Given the description of an element on the screen output the (x, y) to click on. 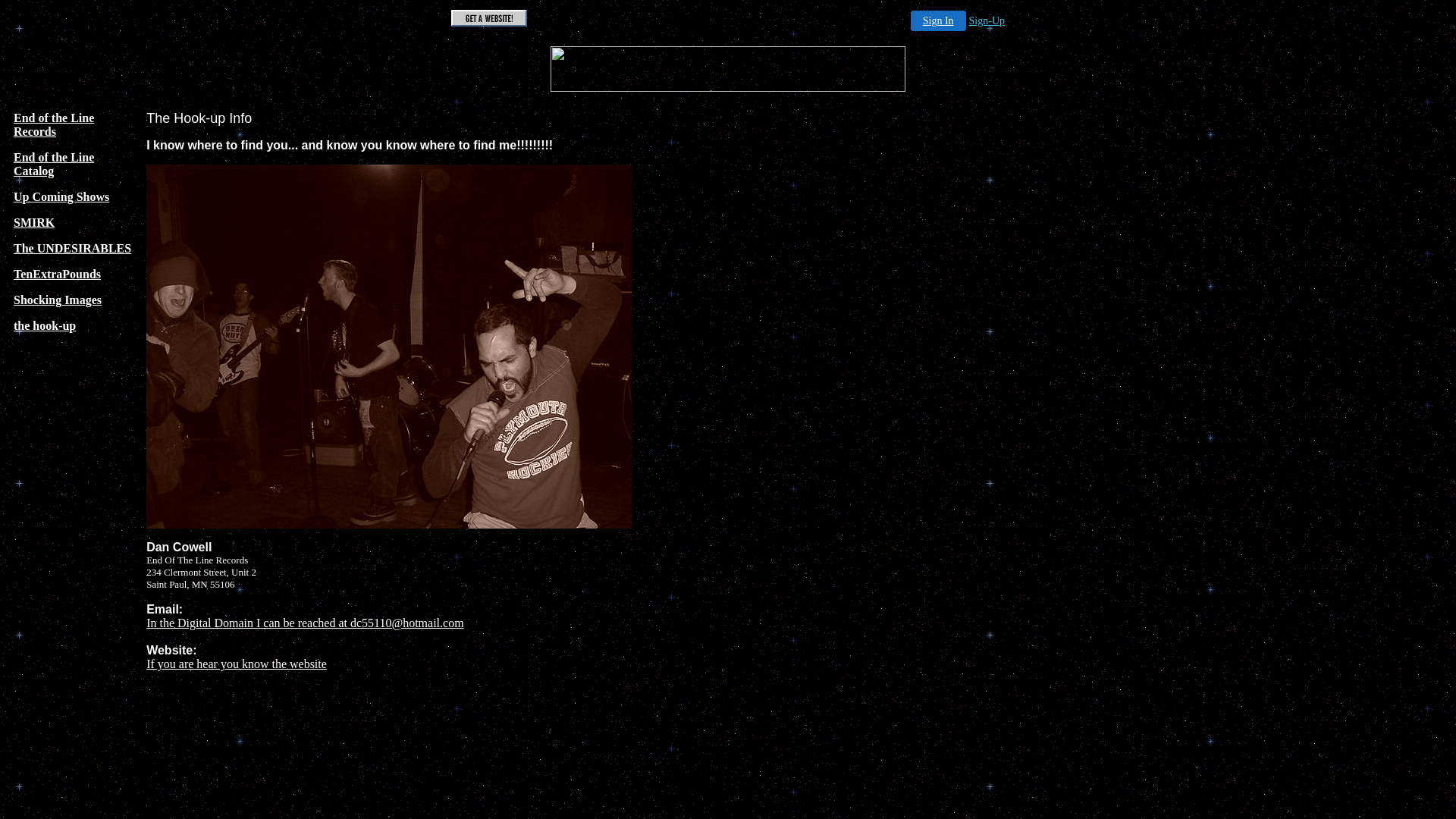
End of the Line Records Element type: text (53, 124)
Shocking Images Element type: text (57, 299)
The UNDESIRABLES Element type: text (72, 247)
If you are hear you know the website Element type: text (236, 663)
TenExtraPounds Element type: text (56, 273)
Sign-Up Element type: text (986, 20)
Up Coming Shows Element type: text (61, 196)
SMIRK Element type: text (33, 222)
Sign In Element type: text (938, 20)
the hook-up Element type: text (44, 325)
End of the Line Catalog Element type: text (53, 163)
